Given the description of an element on the screen output the (x, y) to click on. 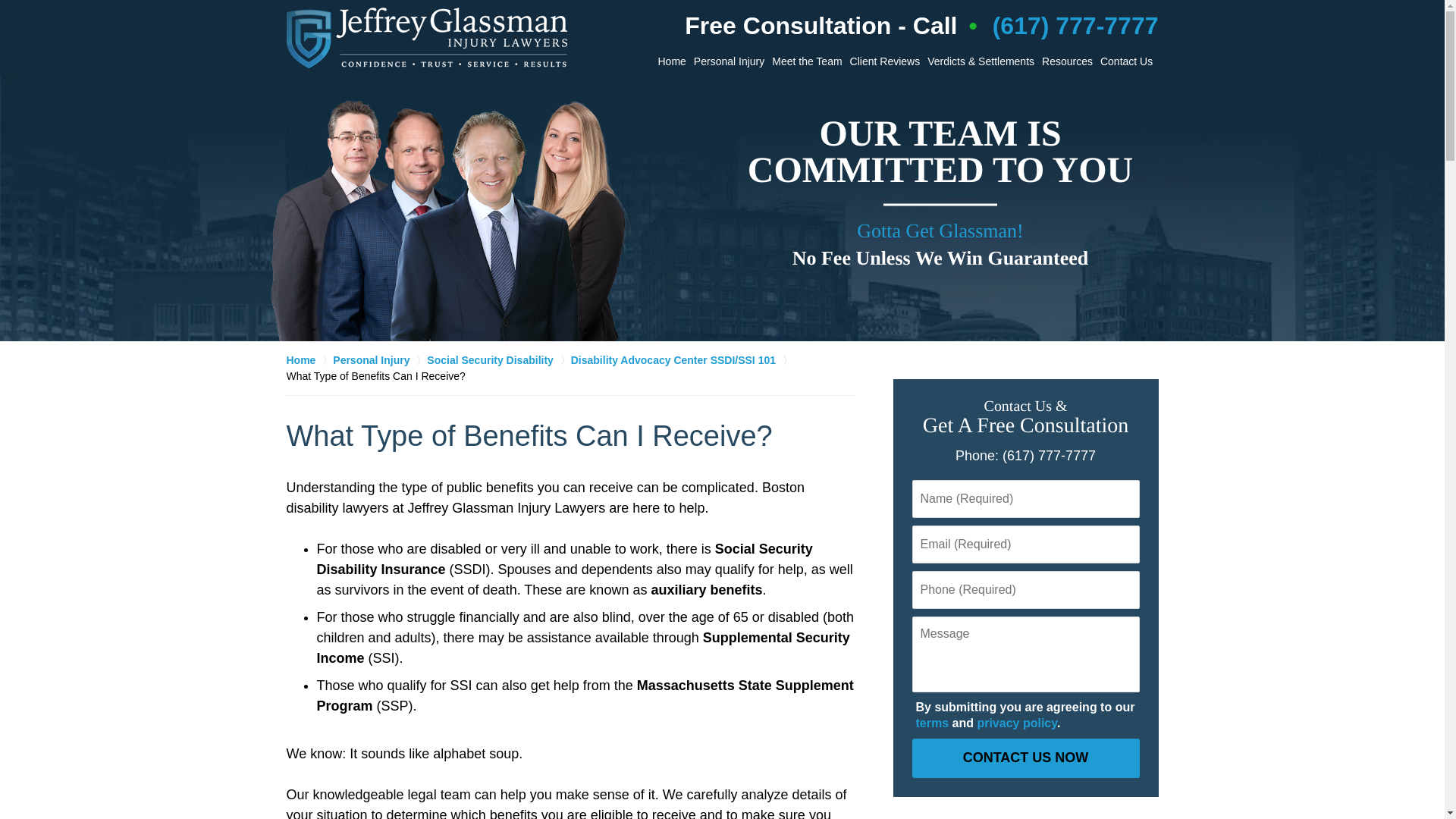
Jeffrey Glassman Injury Lawyers Home (426, 37)
Message (1024, 654)
terms (932, 722)
Meet the Team (806, 61)
Personal Injury (729, 61)
Back to Home (426, 37)
CONTACT US NOW (1024, 758)
Contact Us (1126, 61)
Client Reviews (884, 61)
Home (670, 61)
Social Security Disability (498, 359)
Resources (1067, 61)
Personal Injury (379, 359)
privacy policy (1016, 722)
Home (309, 359)
